Given the description of an element on the screen output the (x, y) to click on. 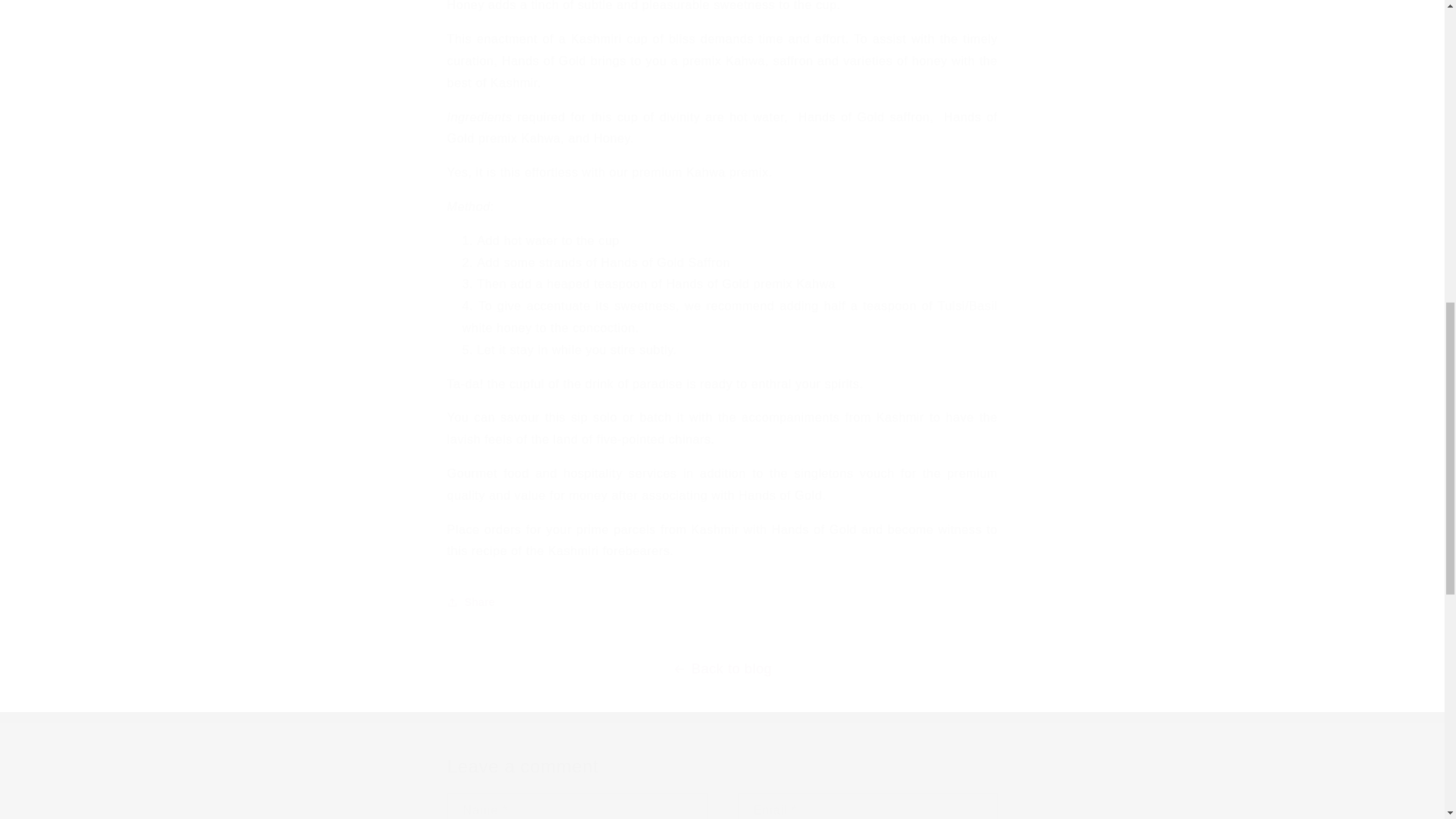
Share (721, 602)
